Given the description of an element on the screen output the (x, y) to click on. 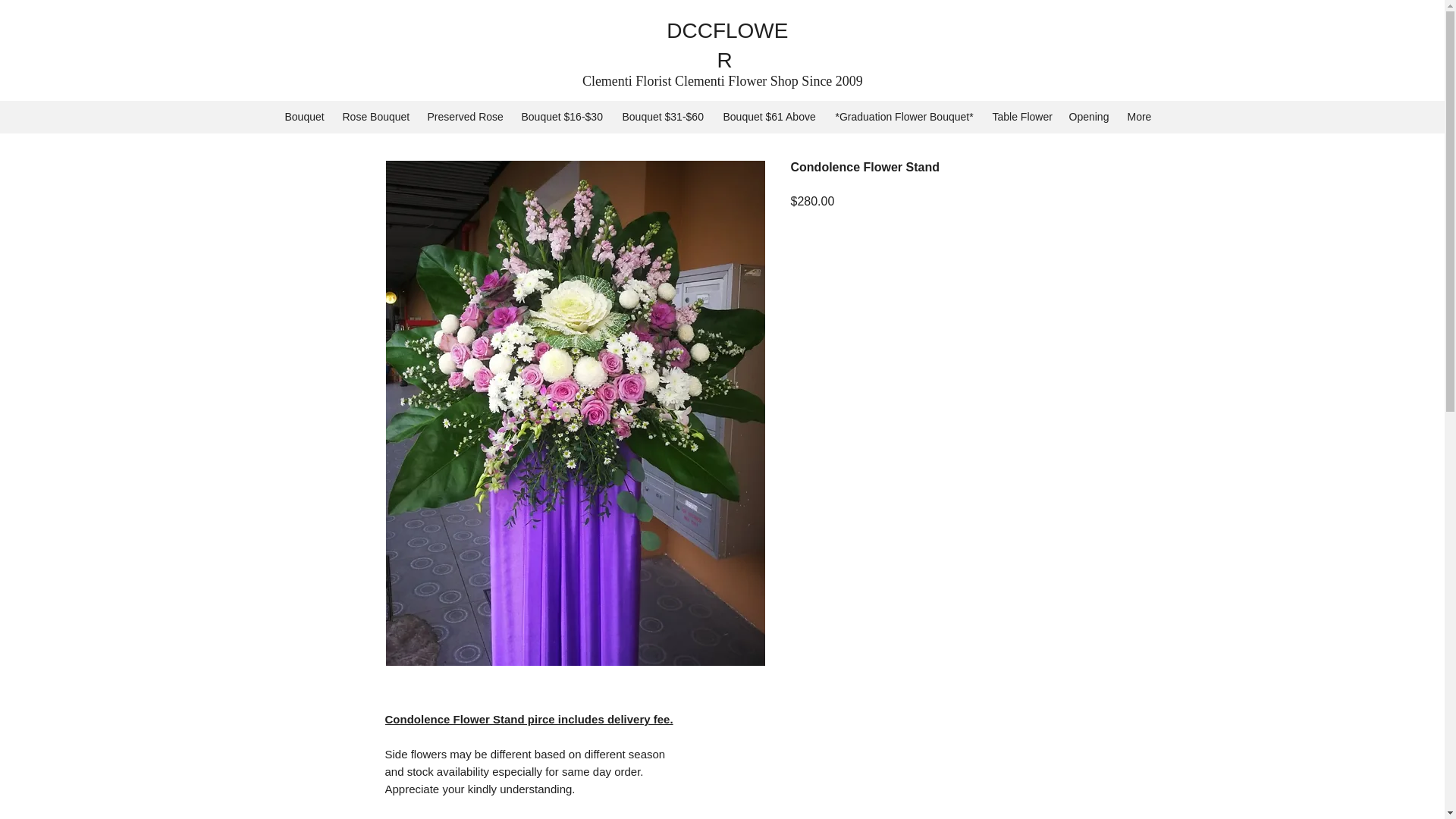
Bouquet (306, 115)
Rose Bouquet (377, 115)
Clementi Florist Clementi Flower Shop Since 2009 (722, 81)
Preserved Rose (466, 115)
DCCFLOWER  (726, 45)
Table Flower (1022, 115)
Opening (1090, 115)
